Given the description of an element on the screen output the (x, y) to click on. 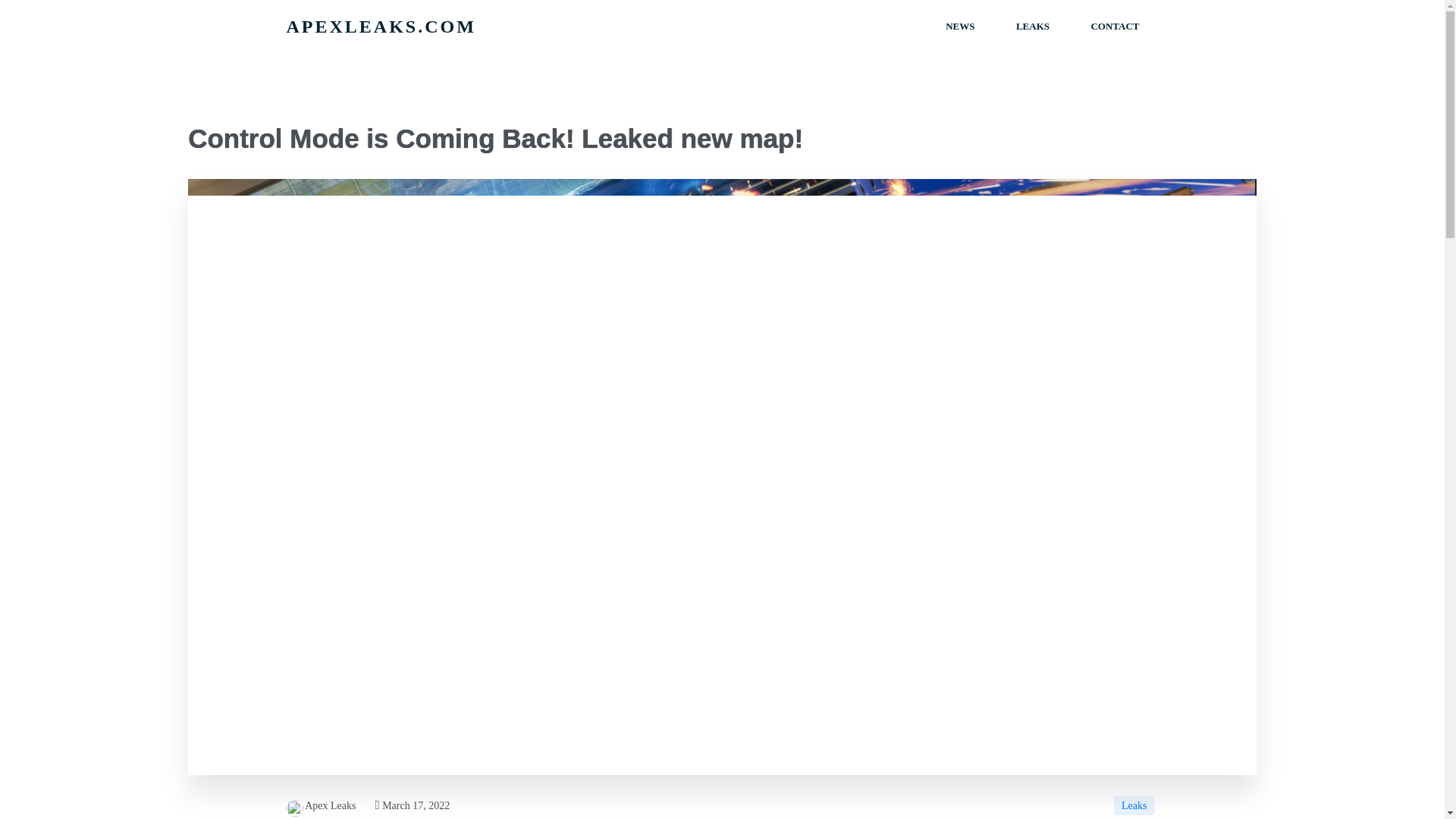
Leaks (1133, 805)
LEAKS (1032, 26)
Apex Leaks (321, 805)
NEWS (959, 26)
CONTACT (1114, 26)
March 17, 2022 (411, 805)
APEXLEAKS.COM (500, 26)
